Given the description of an element on the screen output the (x, y) to click on. 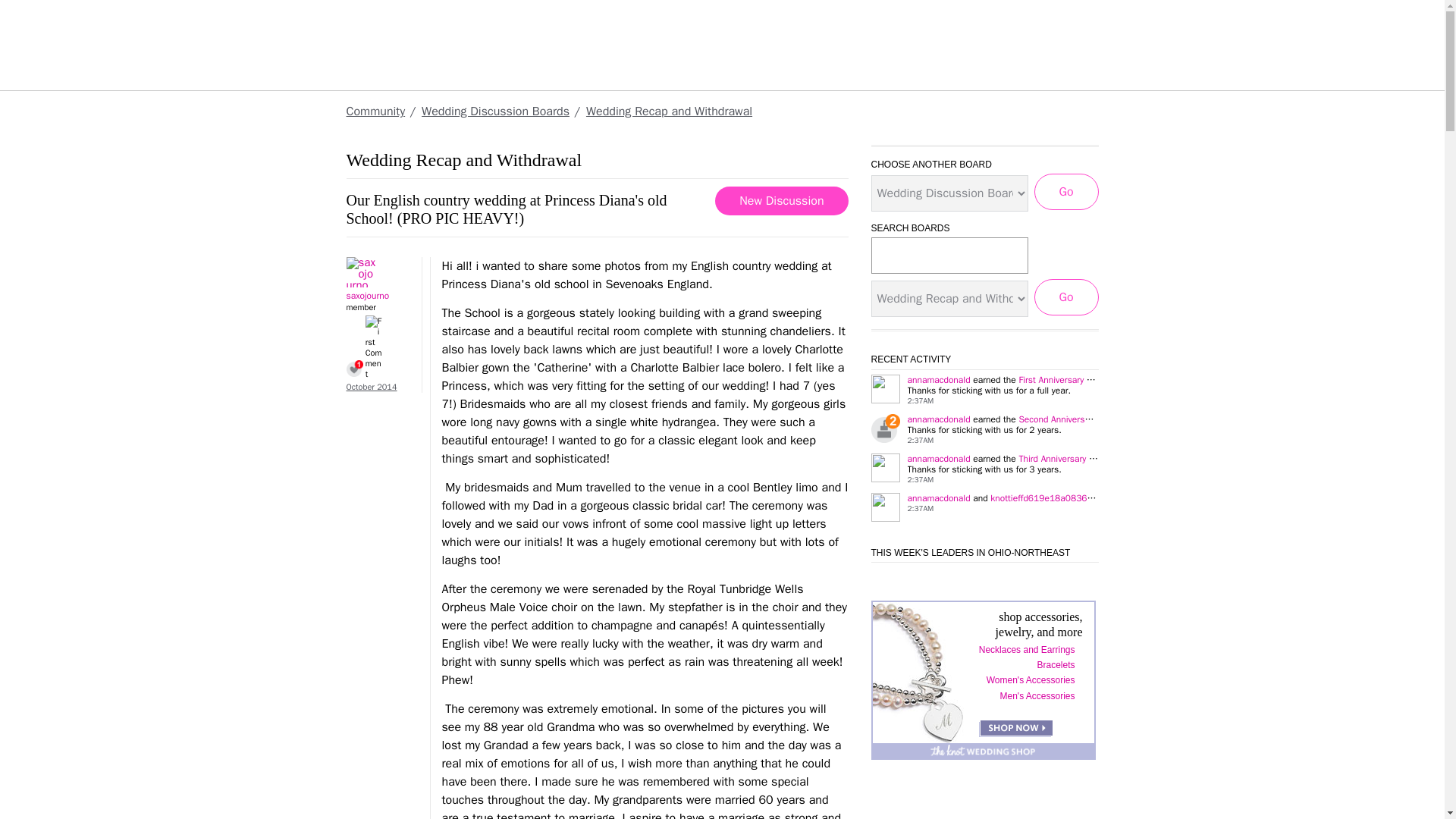
annamacdonald (938, 379)
October 2014 (371, 386)
Second Anniversary (1056, 419)
annamacdonald (938, 498)
Bracelets (1058, 665)
New Discussion (780, 200)
knottieffd619e18a083640 (1043, 498)
Community (375, 111)
Men's Accessories (1039, 696)
First Anniversary (1050, 379)
Women's Accessories (1035, 679)
Go (1066, 297)
annamacdonald (938, 419)
saxojourno (376, 272)
5 Love Its (354, 368)
